Given the description of an element on the screen output the (x, y) to click on. 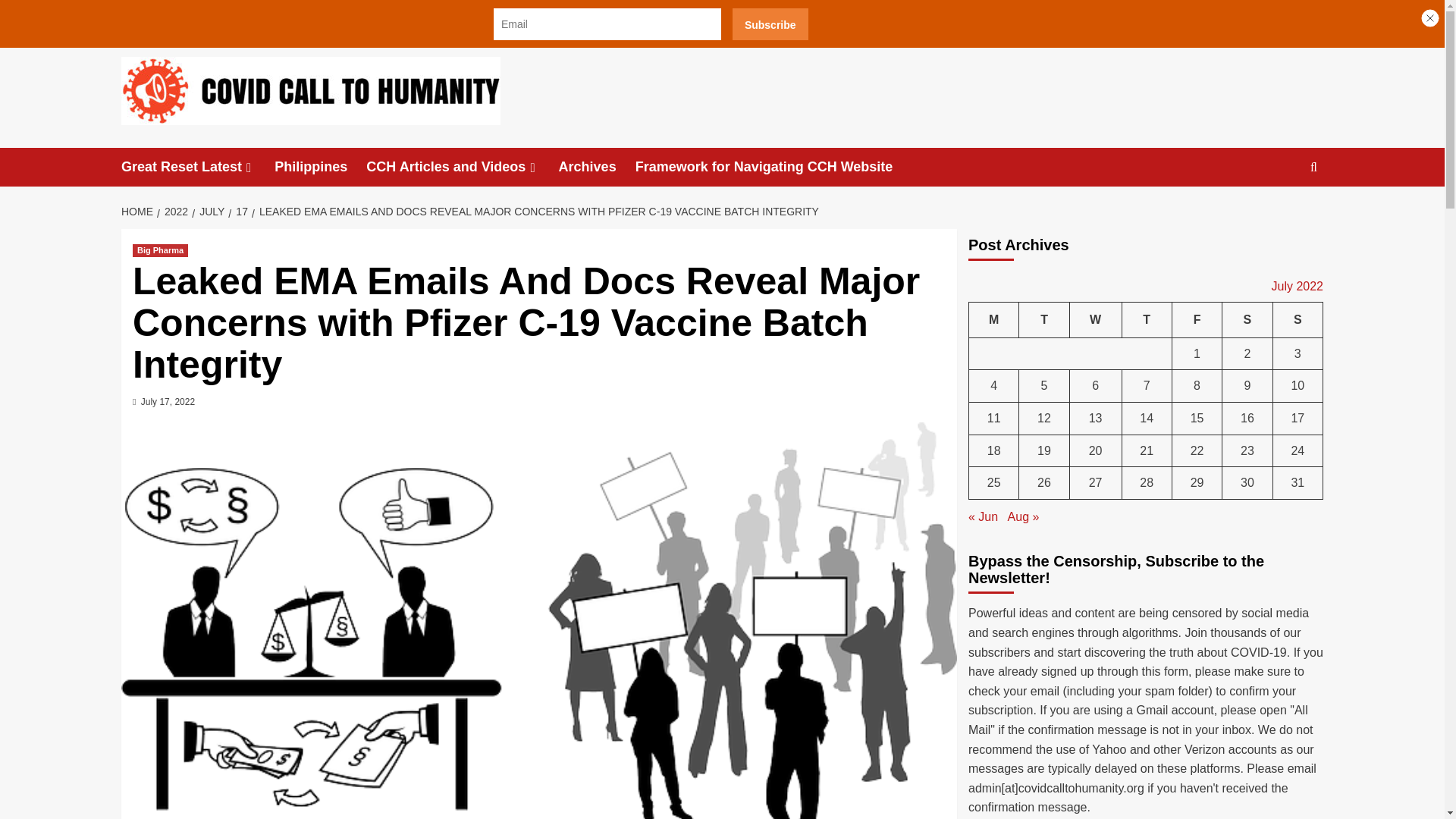
ABOUT (250, 17)
FAQ (432, 17)
Monday (994, 320)
Friday (1196, 320)
Subscribe (770, 24)
Tuesday (1043, 320)
Wednesday (1094, 320)
Sunday (1297, 320)
Thursday (1146, 320)
